Given the description of an element on the screen output the (x, y) to click on. 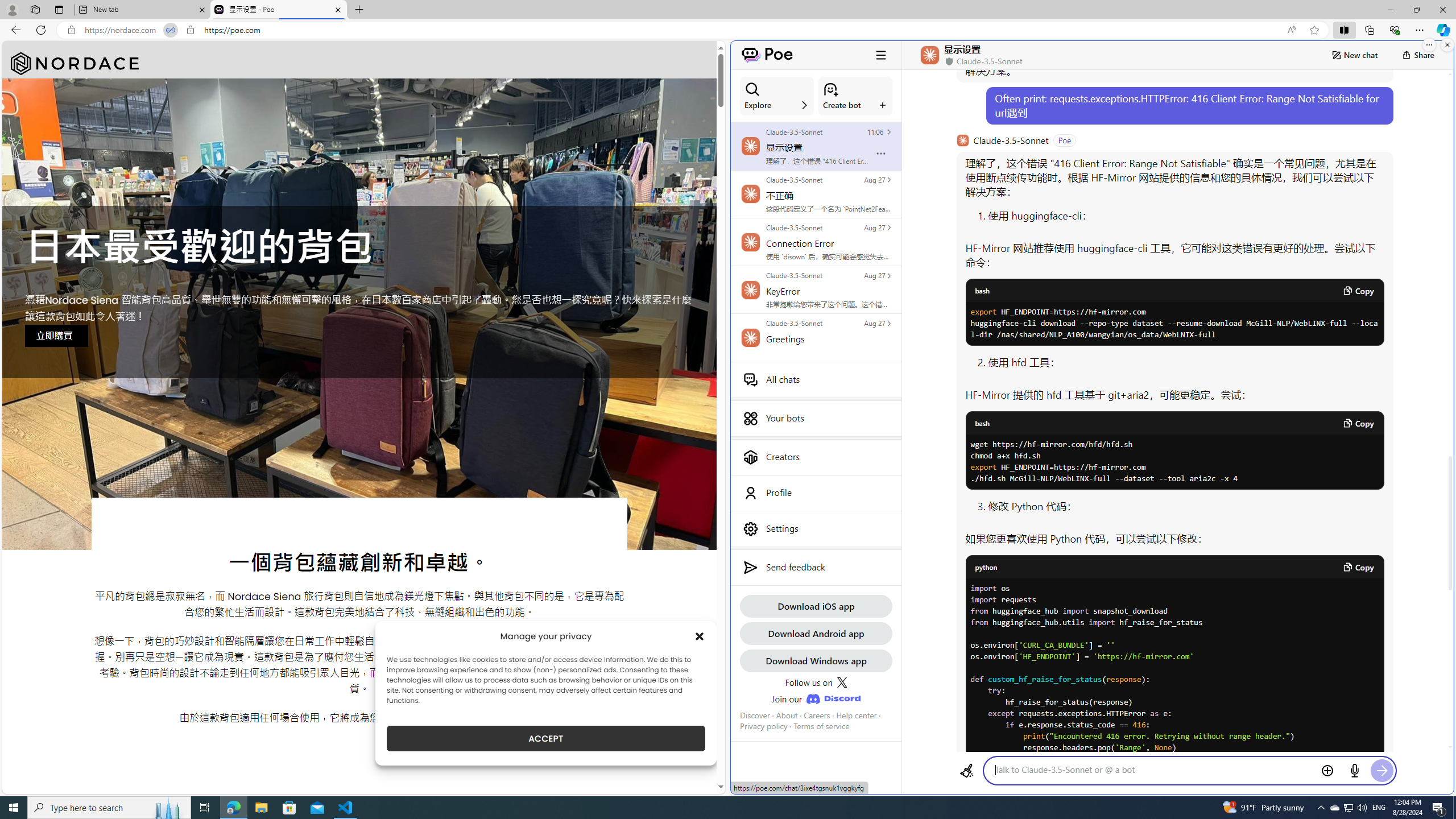
Talk to Claude-3.5-Sonnet or @ a bot (1152, 769)
Terms of service (821, 726)
Send feedback (815, 567)
Class: ManageBotsCardSection_searchIcon__laGLi (752, 89)
Follow us on (815, 682)
Toggle sidebar collapse (880, 54)
Bot image for Claude-3.5-Sonnet (962, 140)
Creators (815, 456)
Split screen (1344, 29)
Read aloud this page (Ctrl+Shift+U) (1291, 29)
Class: cmplz-close (699, 636)
